Given the description of an element on the screen output the (x, y) to click on. 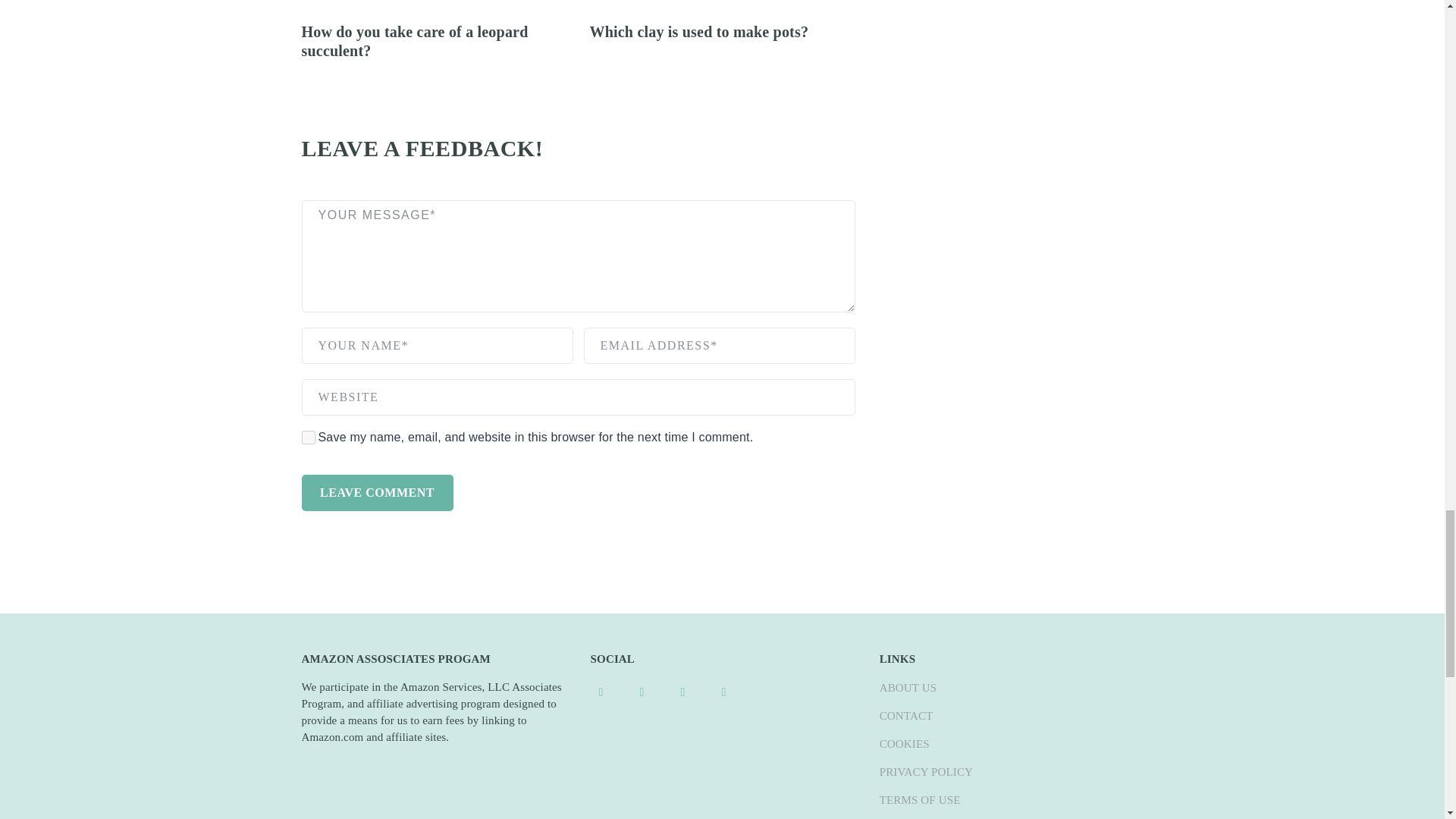
CONTACT (906, 715)
Leave Comment (376, 493)
Which clay is used to make pots? (699, 31)
Leave Comment (376, 493)
ABOUT US (908, 687)
yes (308, 437)
Which clay is used to make pots? (699, 31)
How do you take care of a leopard succulent? (414, 40)
How do you take care of a leopard succulent? (414, 40)
